Given the description of an element on the screen output the (x, y) to click on. 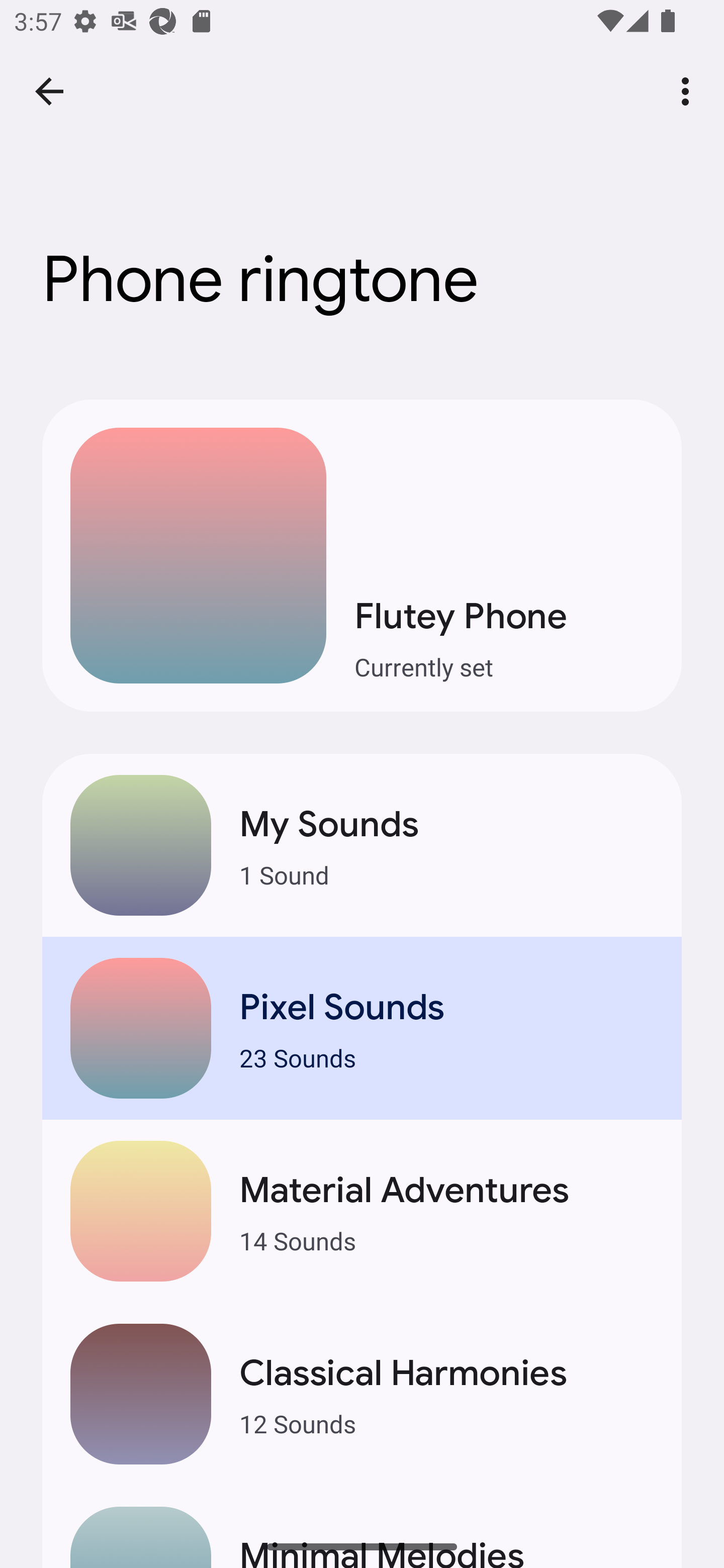
Navigate up (49, 91)
More options (688, 90)
Flutey Phone Currently set (361, 555)
My Sounds 1 Sound (361, 845)
Pixel Sounds 23 Sounds (361, 1027)
Material Adventures 14 Sounds (361, 1211)
Classical Harmonies 12 Sounds (361, 1393)
Minimal Melodies (361, 1526)
